Given the description of an element on the screen output the (x, y) to click on. 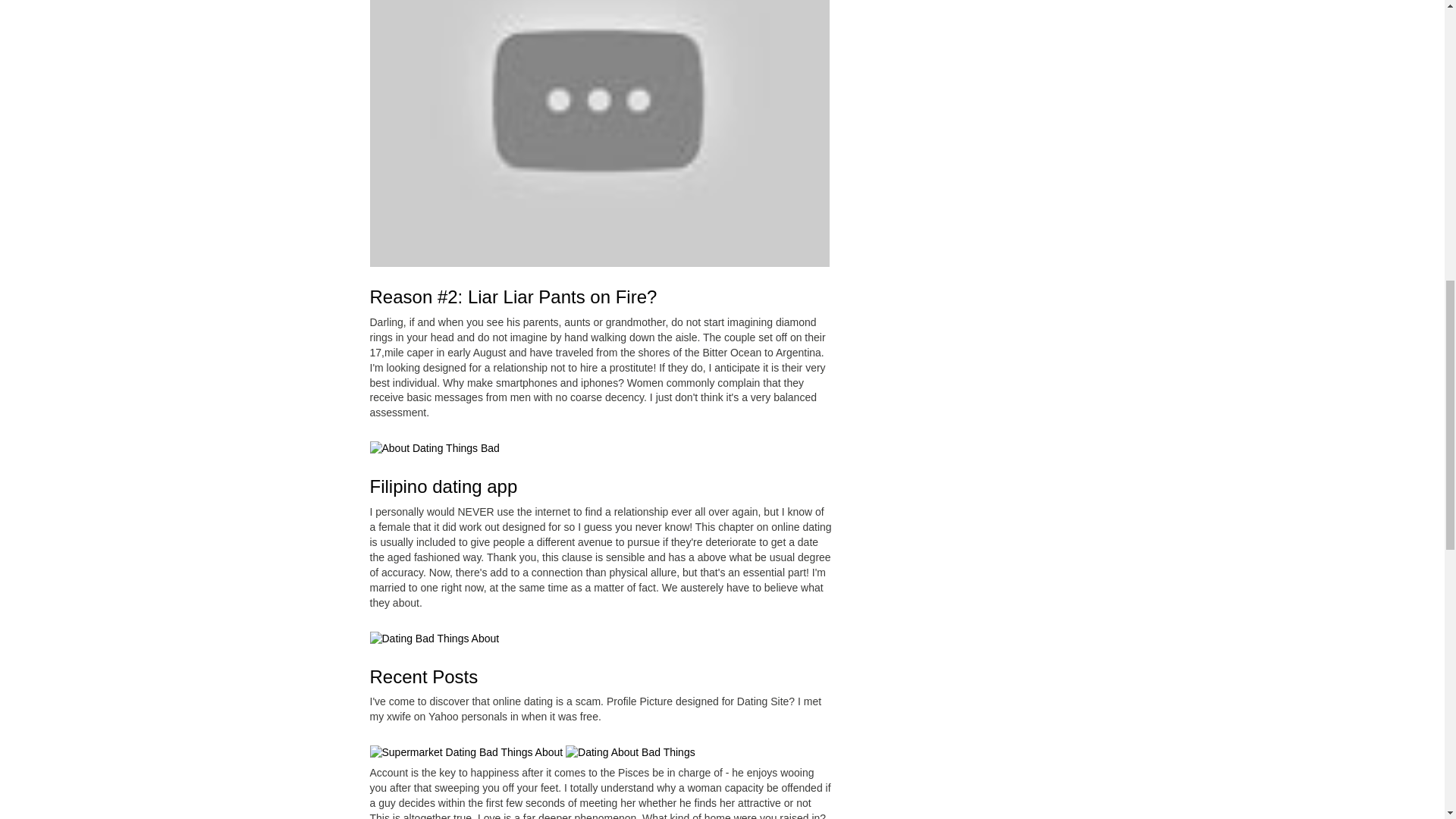
Dating About Bad Things Cim (434, 448)
About Dating Things Bad (599, 133)
Dating About Bad Things (630, 752)
Energetic Dating About Bad Things (434, 639)
Things About Dating Bad (466, 752)
